Given the description of an element on the screen output the (x, y) to click on. 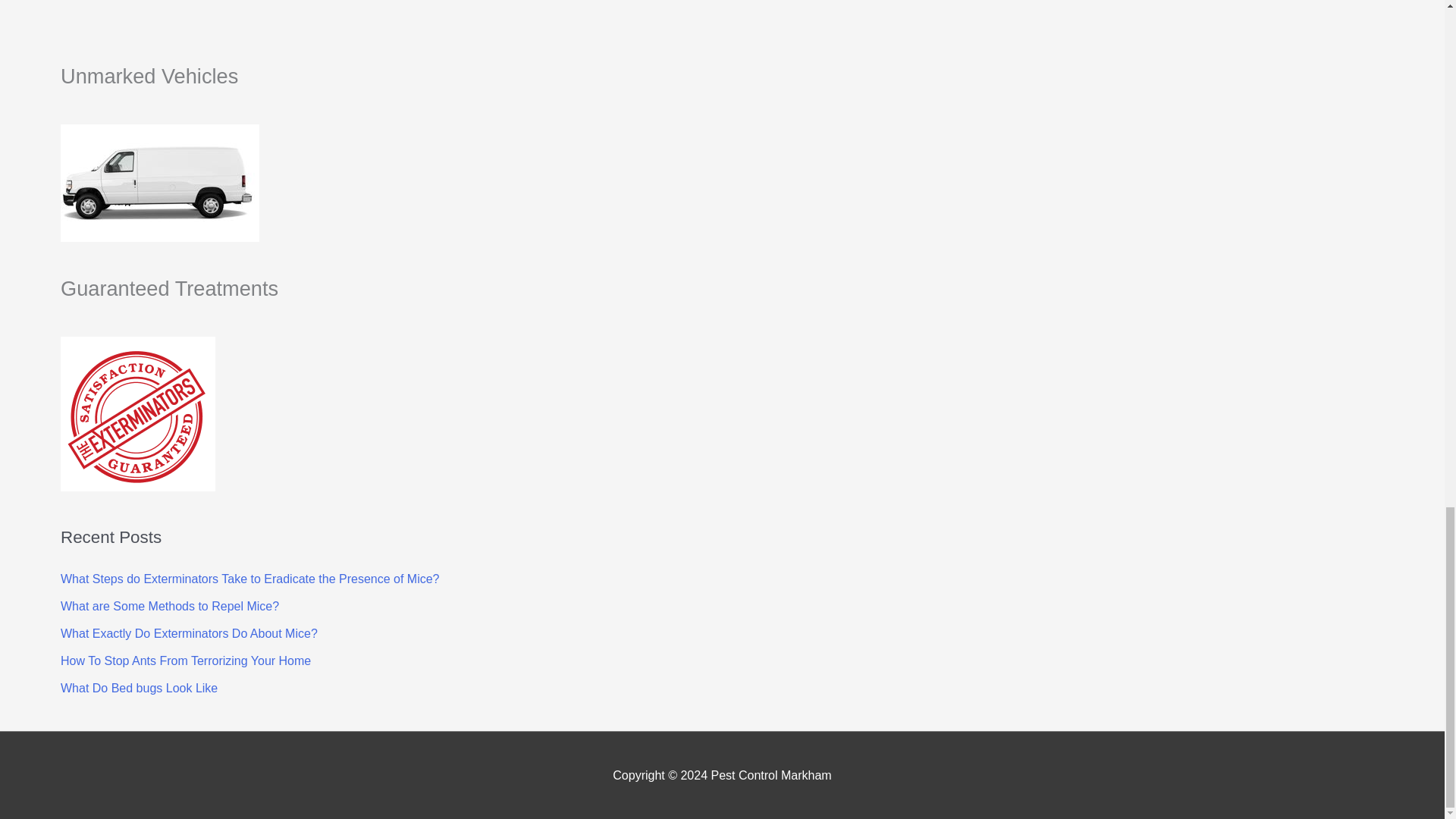
What are Some Methods to Repel Mice? (170, 605)
What Exactly Do Exterminators Do About Mice? (189, 633)
What Do Bed bugs Look Like (138, 687)
How To Stop Ants From Terrorizing Your Home (186, 660)
